Given the description of an element on the screen output the (x, y) to click on. 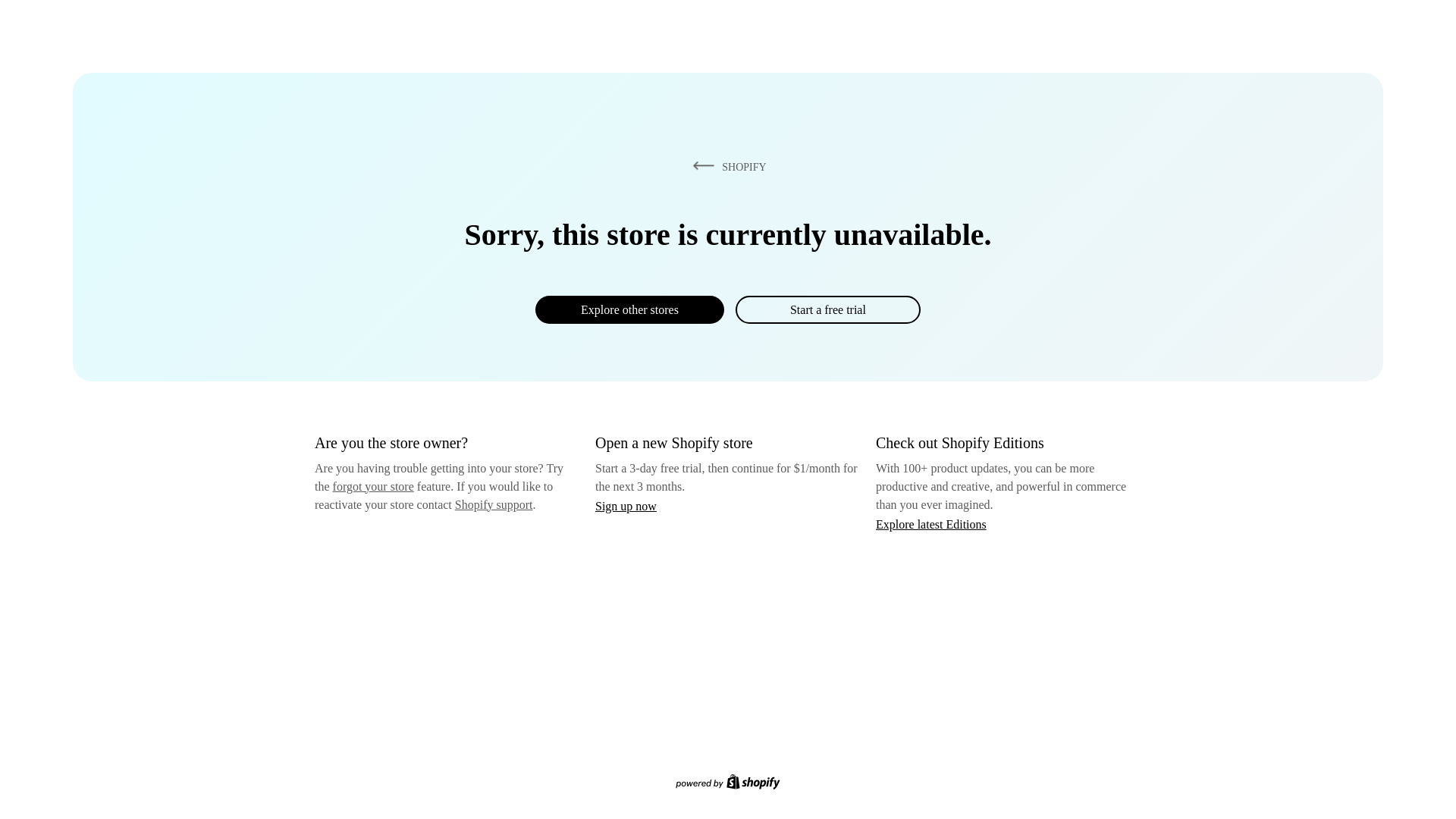
Shopify support (493, 504)
Sign up now (625, 505)
Start a free trial (827, 309)
Explore other stores (629, 309)
Explore latest Editions (931, 523)
forgot your store (373, 486)
SHOPIFY (726, 166)
